Given the description of an element on the screen output the (x, y) to click on. 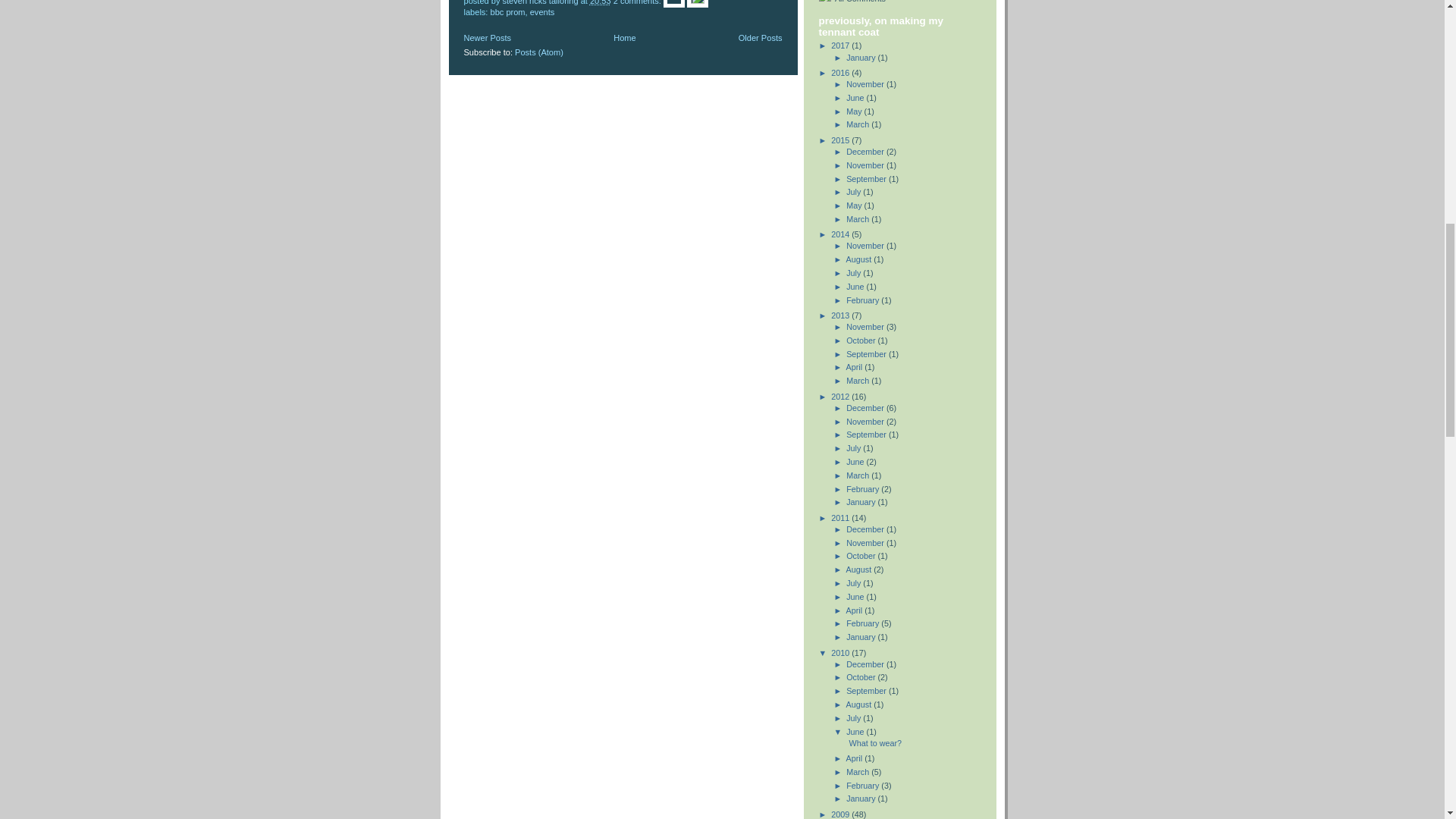
Edit Post (697, 2)
events (541, 11)
Older Posts (760, 37)
20:53 (600, 2)
Home (623, 37)
Older Posts (760, 37)
author profile (540, 2)
Email Post (675, 2)
Newer Posts (488, 37)
bbc prom (507, 11)
steven ricks tailoring (540, 2)
Newer Posts (488, 37)
permanent link (600, 2)
2 comments: (637, 2)
